Given the description of an element on the screen output the (x, y) to click on. 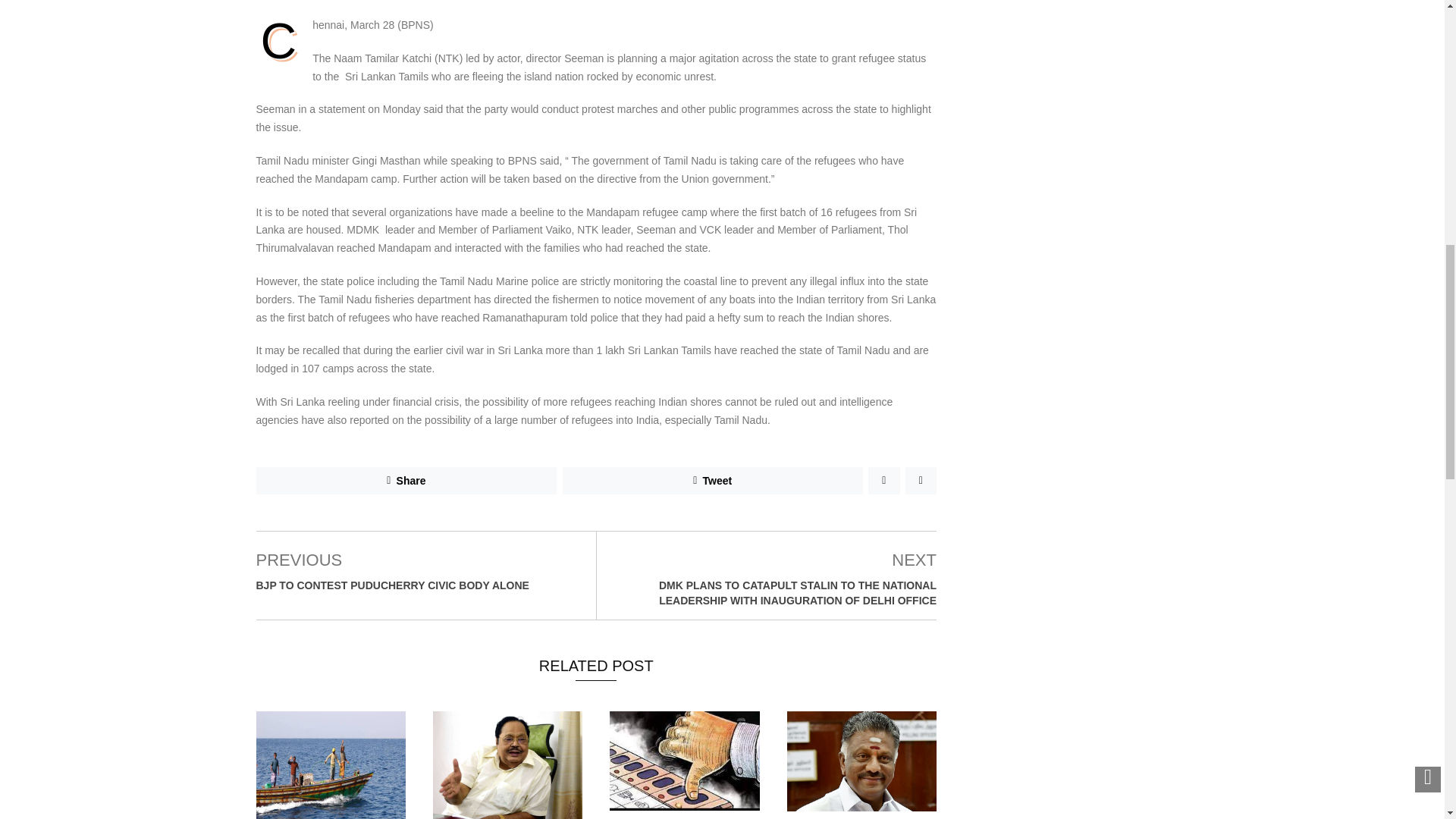
Share (406, 480)
BJP TO CONTEST PUDUCHERRY CIVIC BODY ALONE (392, 585)
BJP to contest Puducherry civic body alone (392, 585)
Tweet (712, 480)
